Given the description of an element on the screen output the (x, y) to click on. 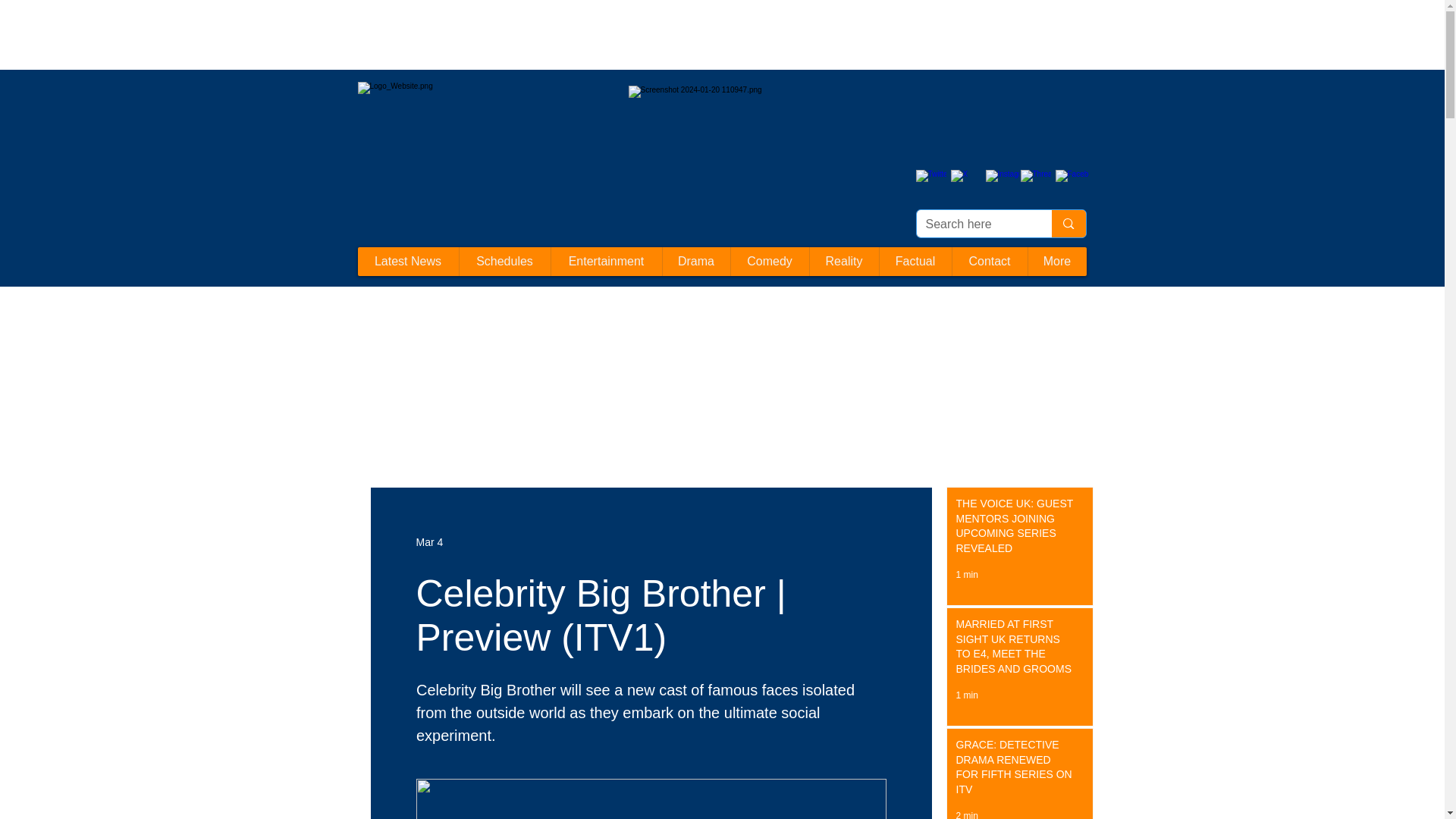
2 min (965, 814)
Latest News (408, 261)
1 min (965, 574)
Entertainment (606, 261)
Schedules (504, 261)
Factual (913, 261)
Mar 4 (428, 541)
Drama (695, 261)
GRACE: DETECTIVE DRAMA RENEWED FOR FIFTH SERIES ON ITV (1014, 770)
